Given the description of an element on the screen output the (x, y) to click on. 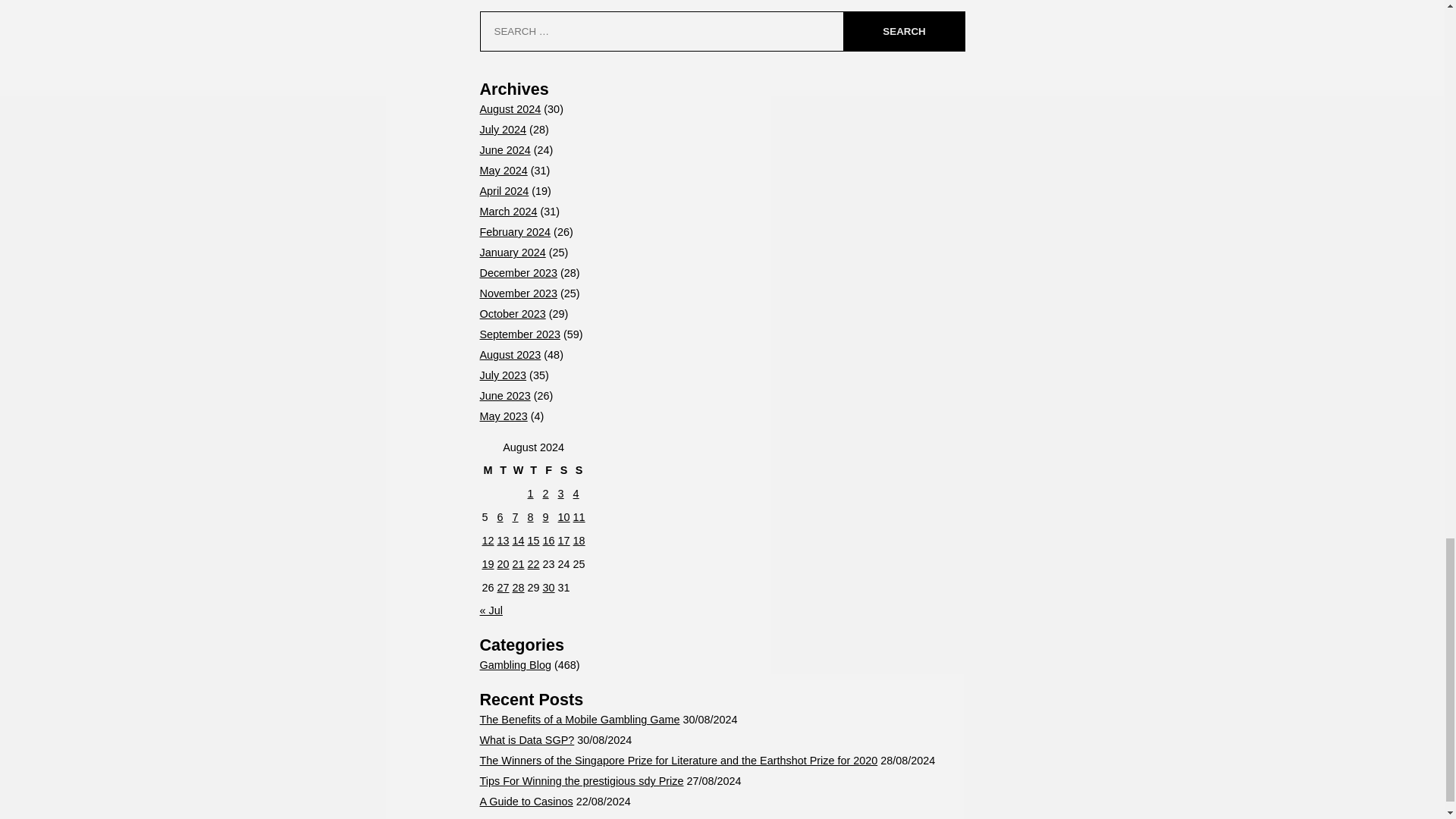
June 2024 (504, 150)
October 2023 (511, 313)
September 2023 (519, 334)
Search (903, 31)
14 (518, 540)
12 (488, 540)
December 2023 (517, 272)
January 2024 (511, 252)
May 2023 (503, 416)
17 (563, 540)
